Given the description of an element on the screen output the (x, y) to click on. 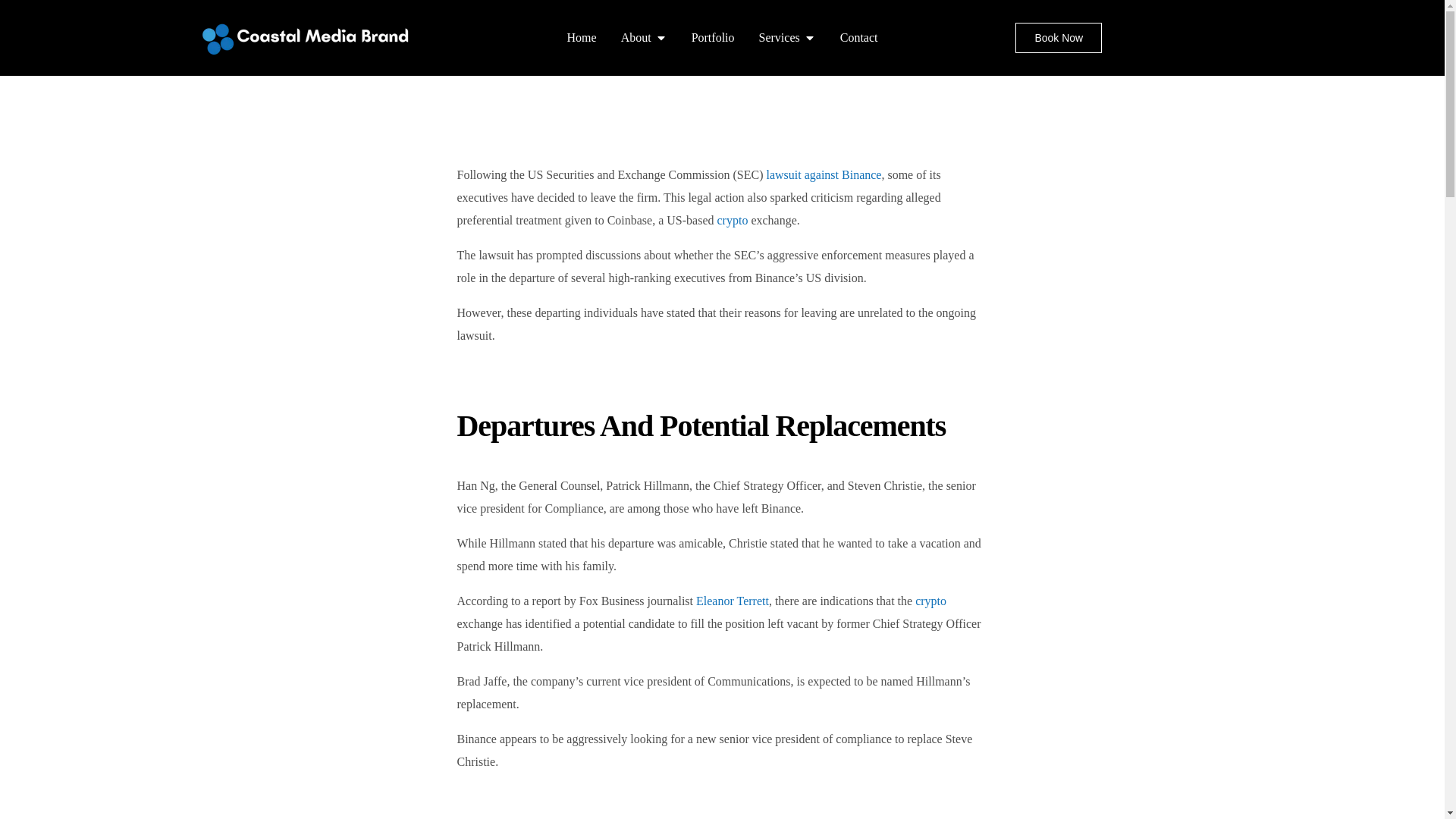
Book Now (1058, 37)
lawsuit against Binance (822, 174)
crypto (930, 600)
crypto (732, 219)
Home (581, 37)
About (635, 37)
Eleanor Terrett (731, 600)
Portfolio (713, 37)
Contact (858, 37)
Services (778, 37)
